Given the description of an element on the screen output the (x, y) to click on. 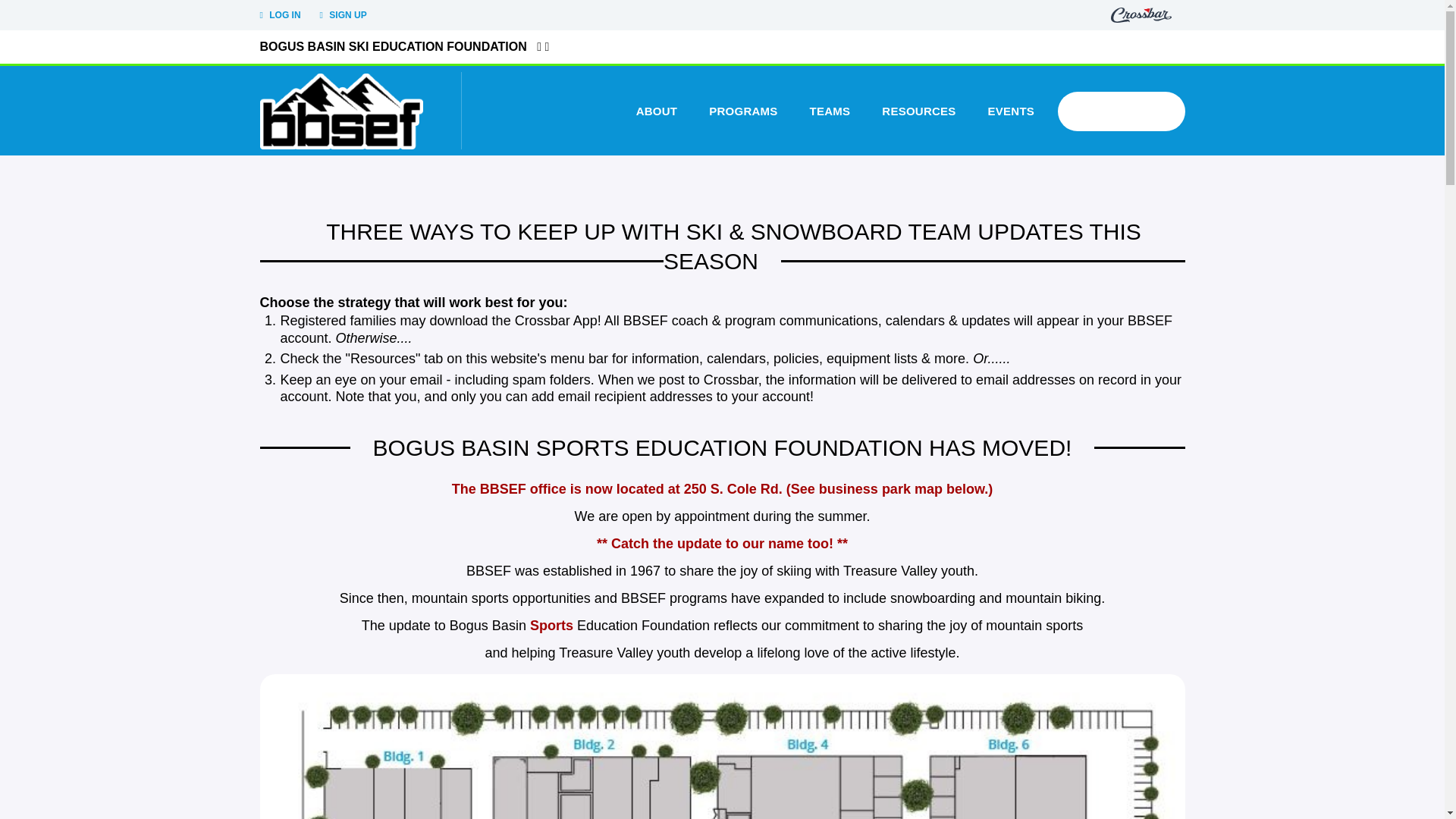
ABOUT (657, 110)
SIGN UP (343, 15)
LOG IN (279, 15)
PROGRAMS (743, 110)
BOGUS BASIN SKI EDUCATION FOUNDATION (392, 46)
